Given the description of an element on the screen output the (x, y) to click on. 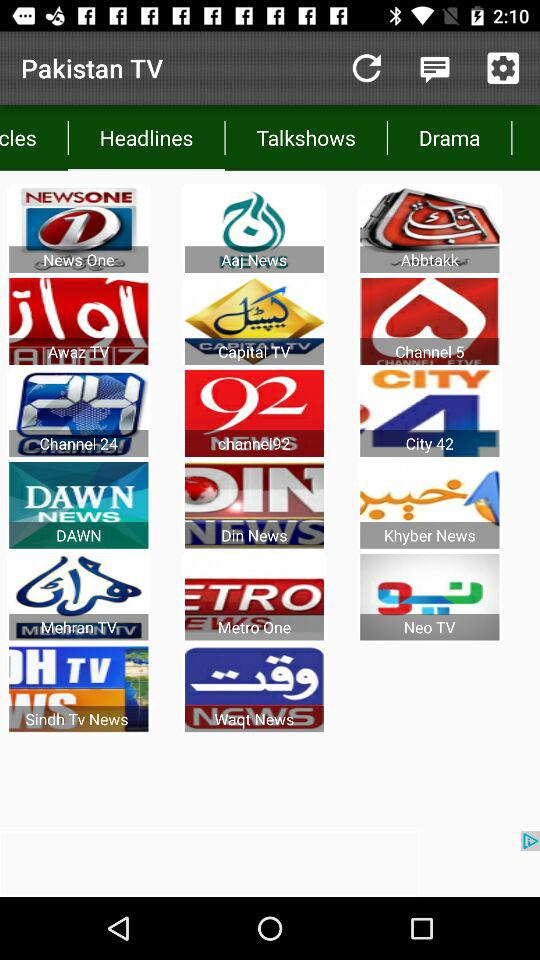
open the inbox (434, 67)
